Given the description of an element on the screen output the (x, y) to click on. 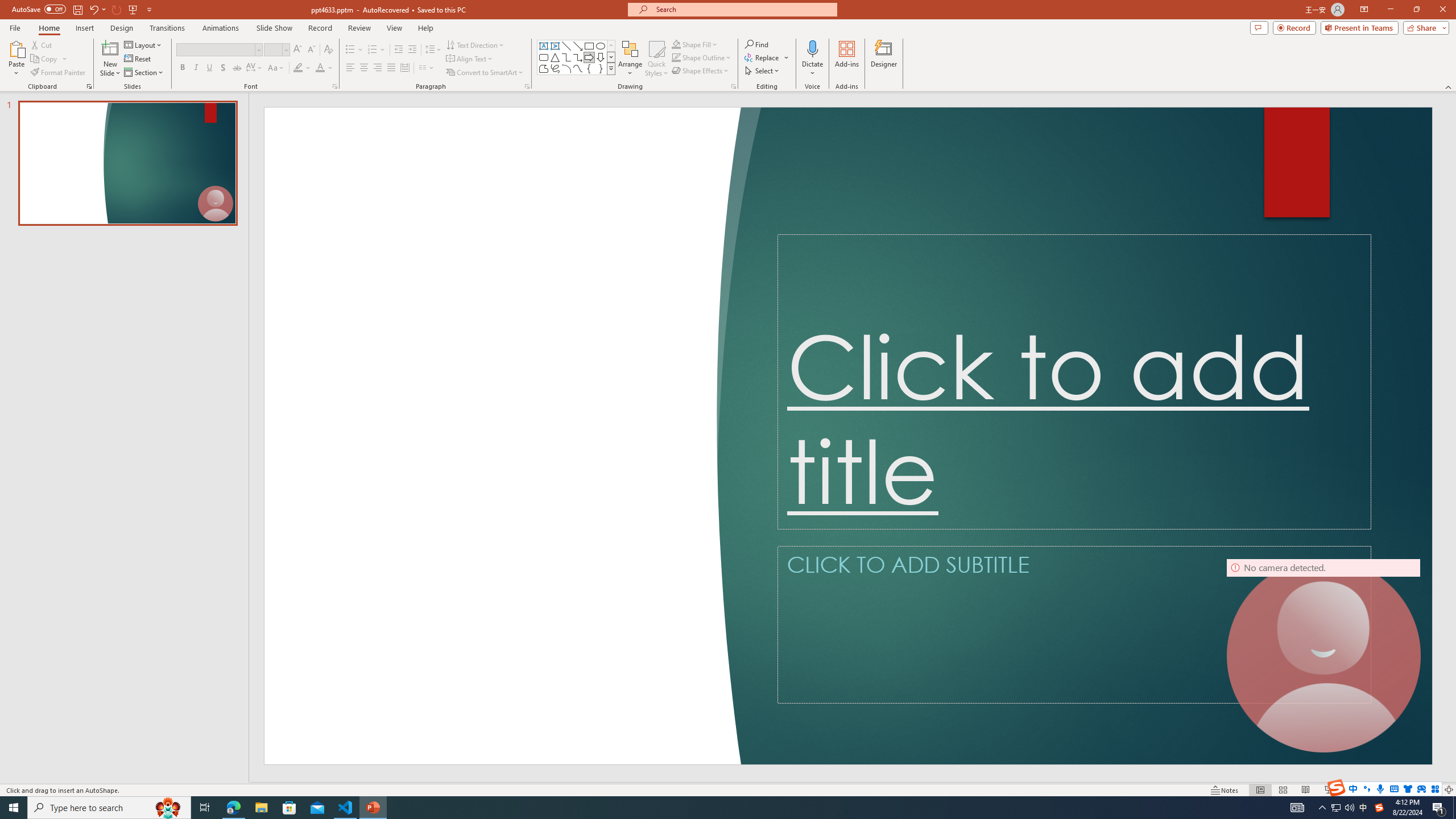
Zoom 161% (1430, 790)
